Given the description of an element on the screen output the (x, y) to click on. 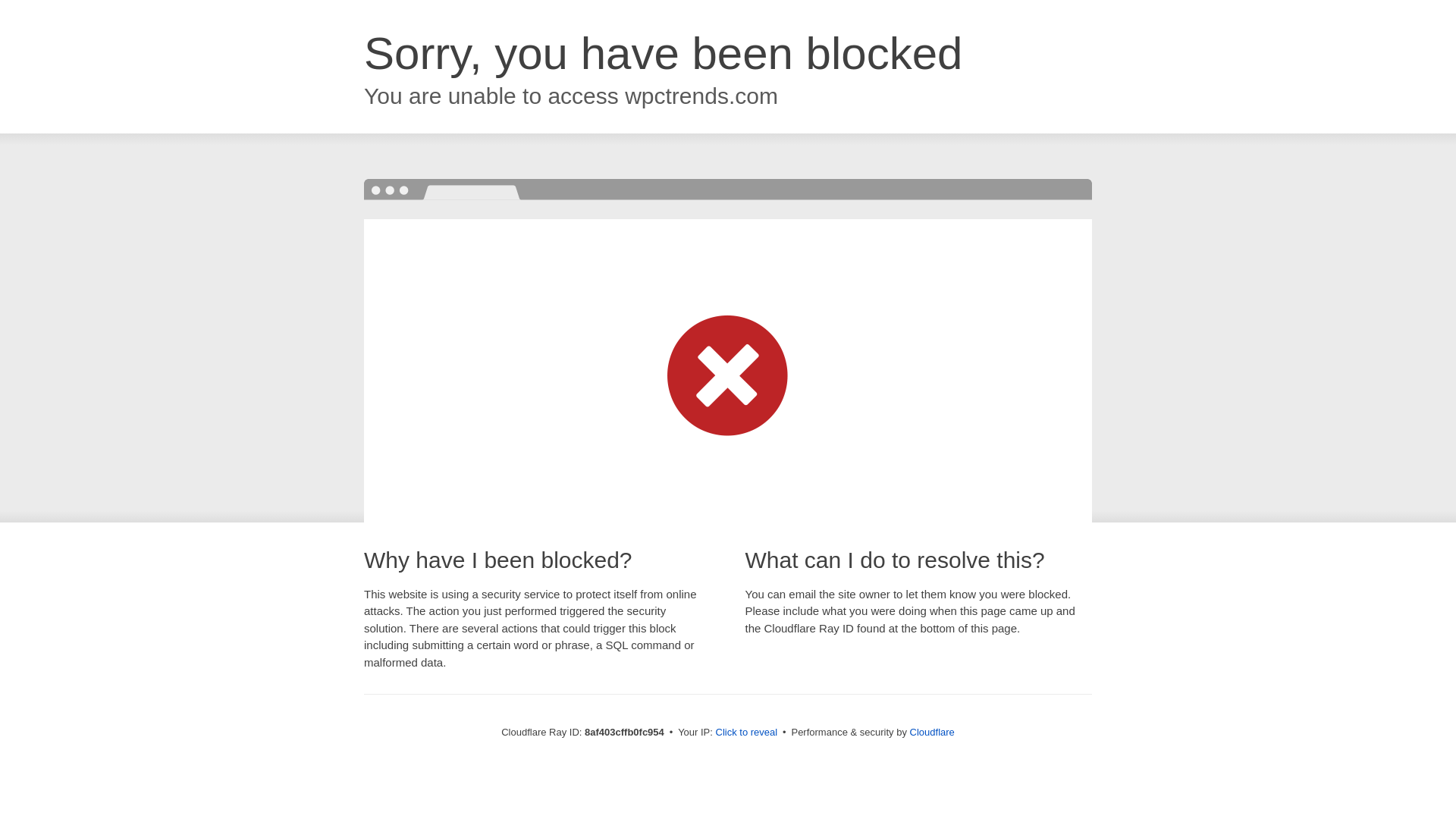
Cloudflare (932, 731)
Click to reveal (746, 732)
